Given the description of an element on the screen output the (x, y) to click on. 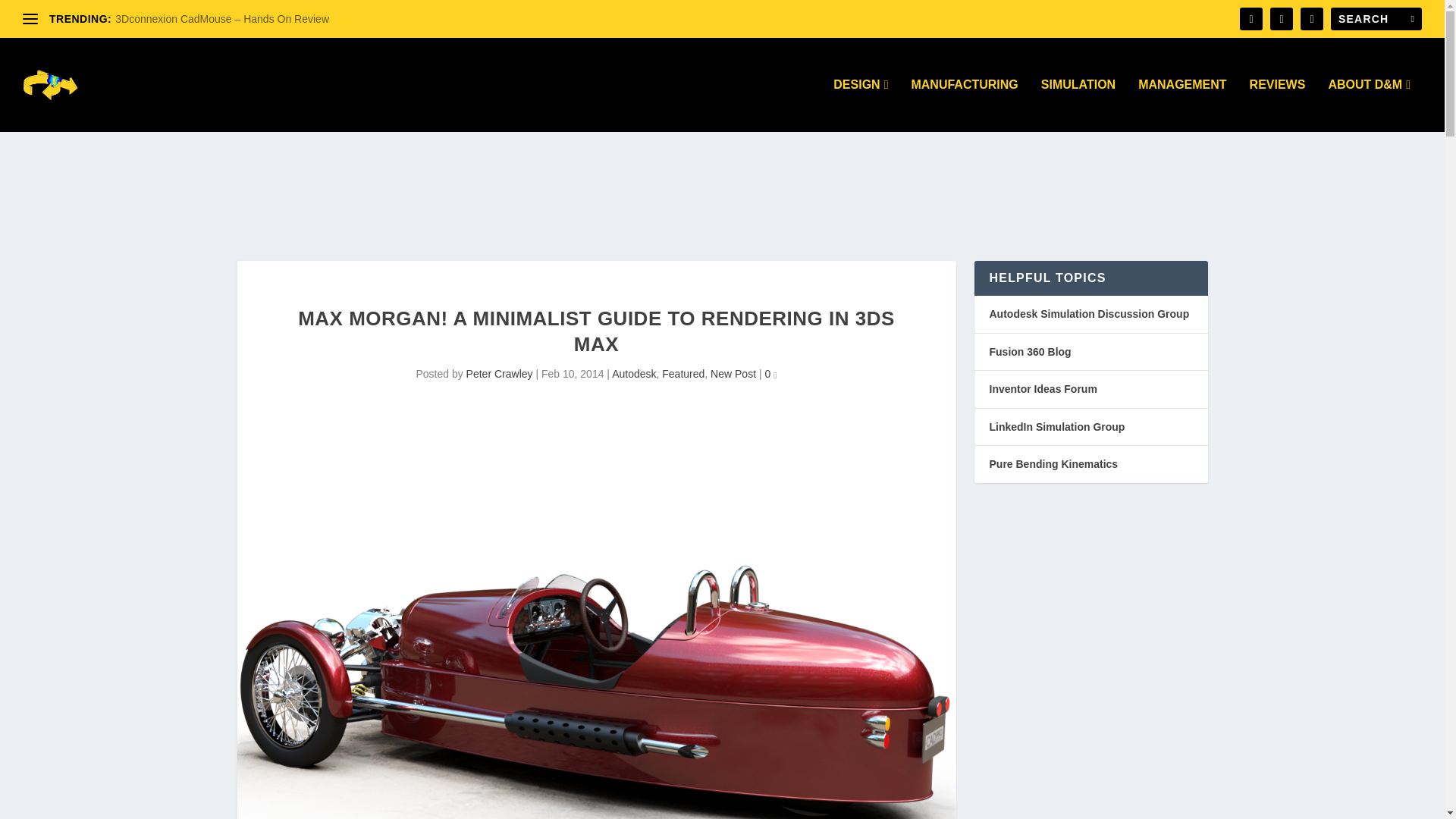
Manufacturing (964, 104)
Search for: (1376, 18)
Reviews (1277, 104)
REVIEWS (1277, 104)
MANAGEMENT (1181, 104)
Simulation (1078, 104)
MANUFACTURING (964, 104)
SIMULATION (1078, 104)
Management (1181, 104)
DESIGN (860, 104)
